Given the description of an element on the screen output the (x, y) to click on. 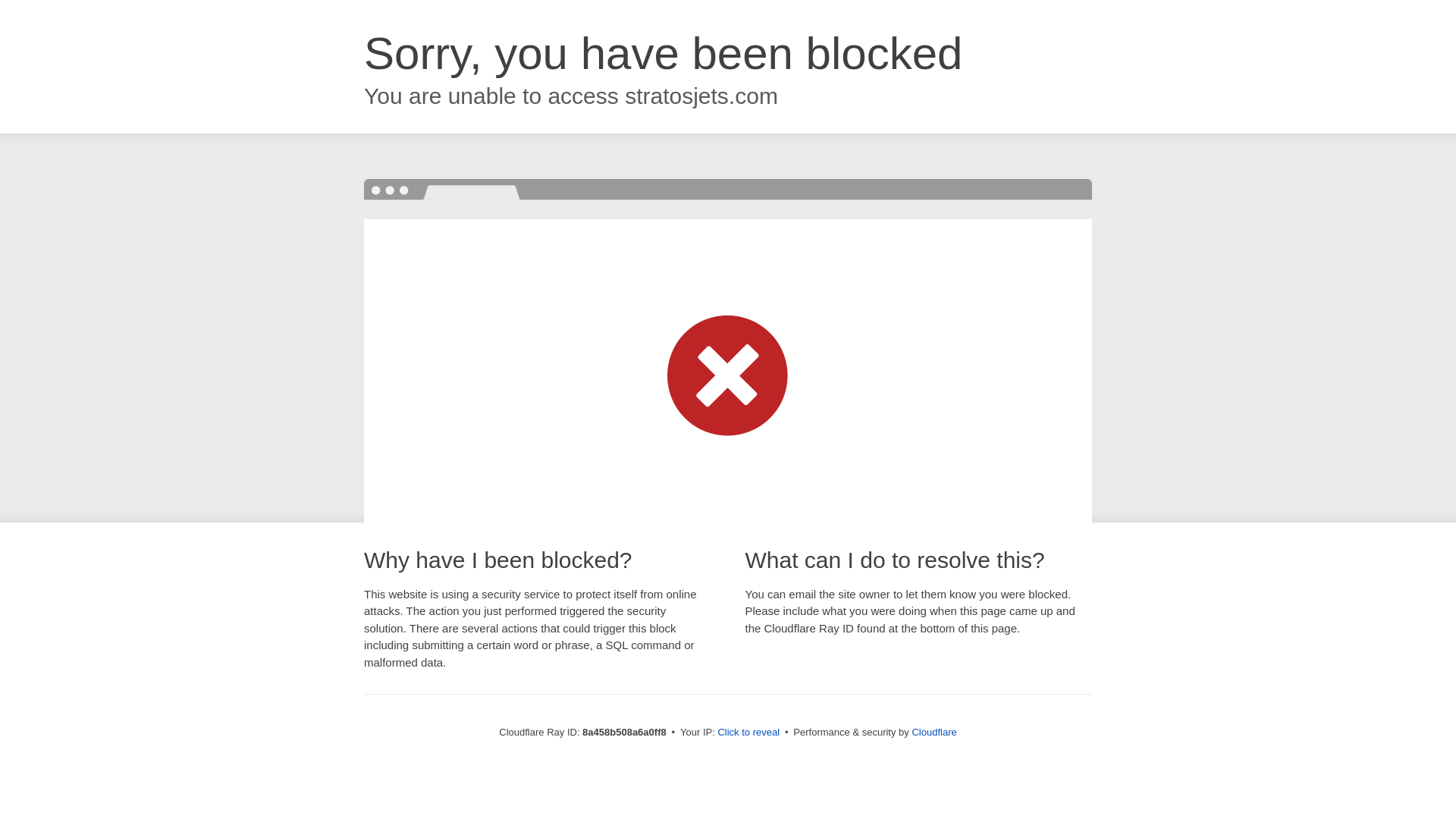
Cloudflare (933, 731)
Click to reveal (747, 732)
